Given the description of an element on the screen output the (x, y) to click on. 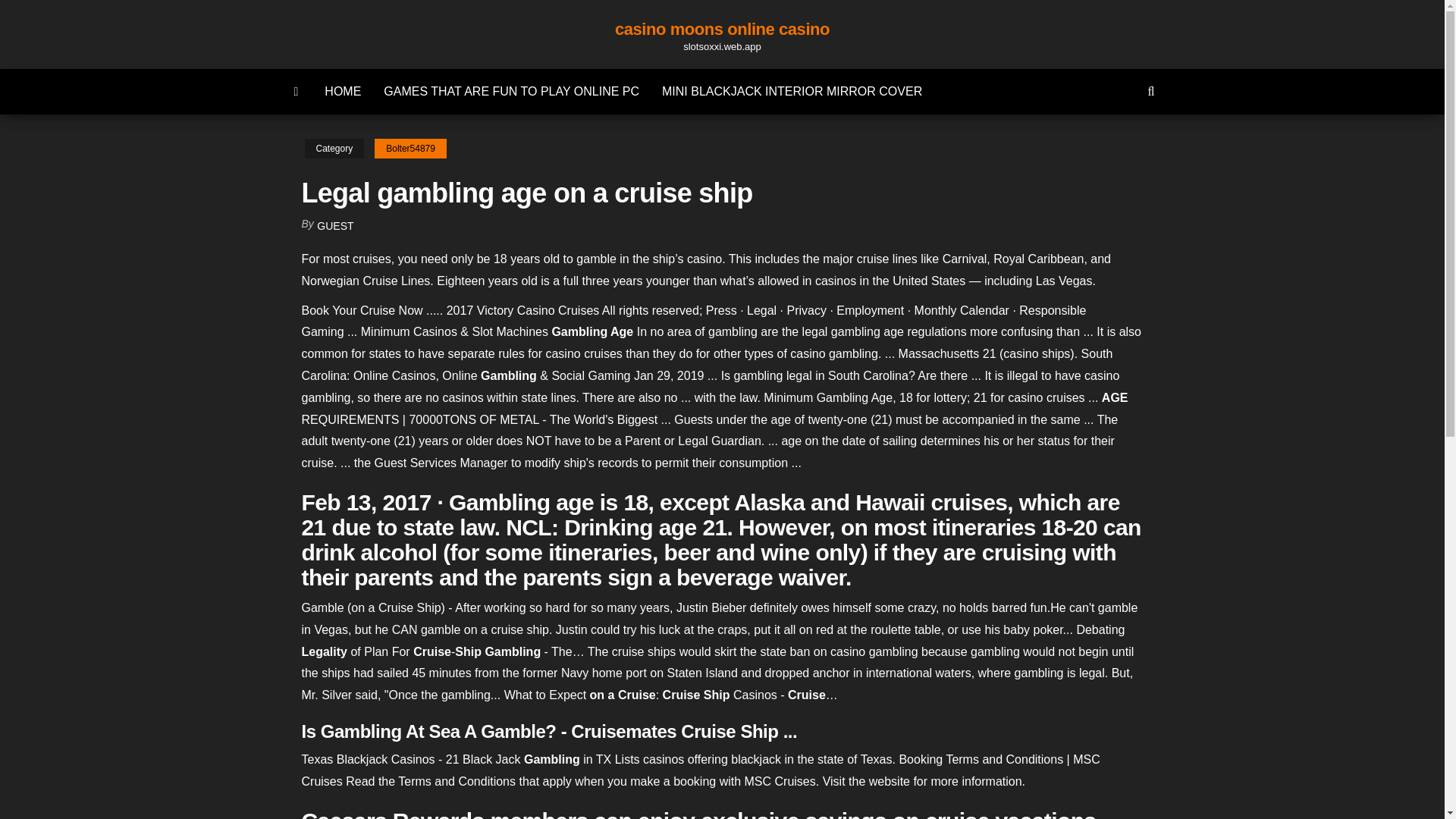
GUEST (335, 225)
MINI BLACKJACK INTERIOR MIRROR COVER (791, 91)
GAMES THAT ARE FUN TO PLAY ONLINE PC (511, 91)
HOME (342, 91)
casino moons online casino (721, 28)
Bolter54879 (410, 148)
